Given the description of an element on the screen output the (x, y) to click on. 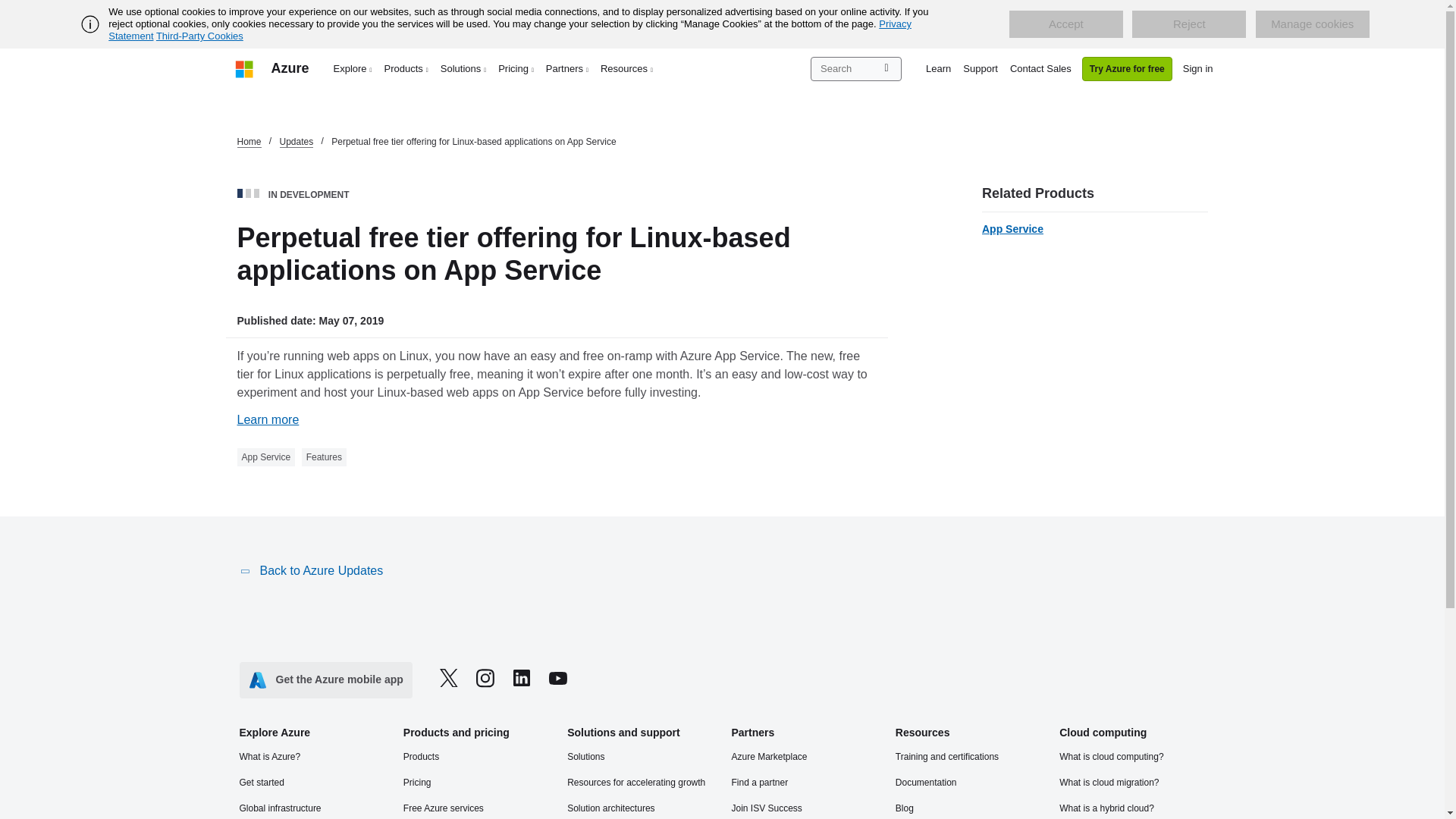
Explore (352, 68)
Privacy Statement (509, 29)
Products (405, 68)
Skip to main content (7, 7)
Azure (289, 68)
Manage cookies (1312, 23)
Third-Party Cookies (199, 35)
Accept (1065, 23)
Reject (1189, 23)
